Given the description of an element on the screen output the (x, y) to click on. 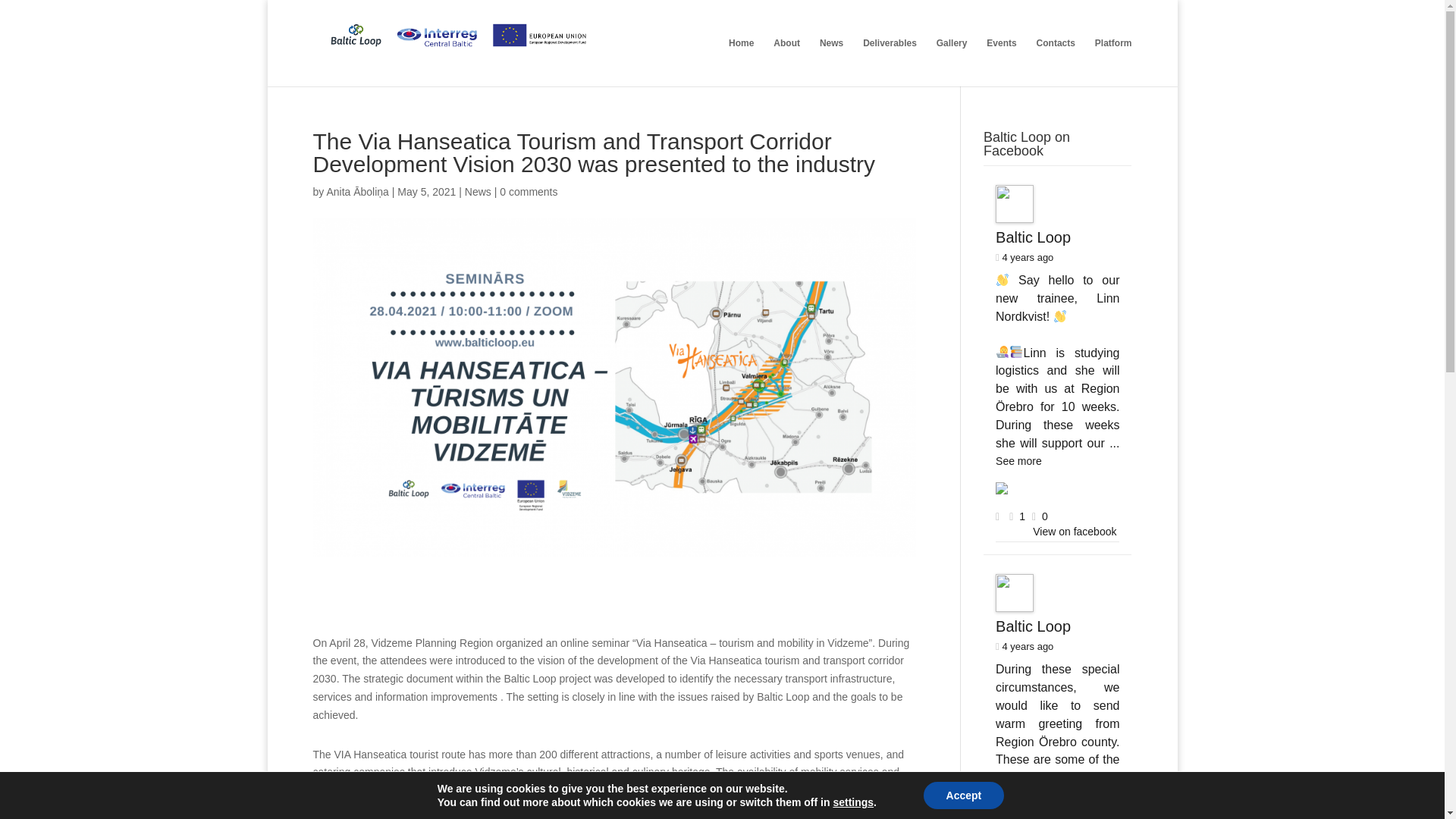
See more (1018, 460)
View on facebook (1074, 531)
Baltic Loop (1032, 237)
News (478, 191)
Baltic Loop (1032, 626)
0 comments (528, 191)
Deliverables (890, 61)
View on facebook (1074, 531)
